Given the description of an element on the screen output the (x, y) to click on. 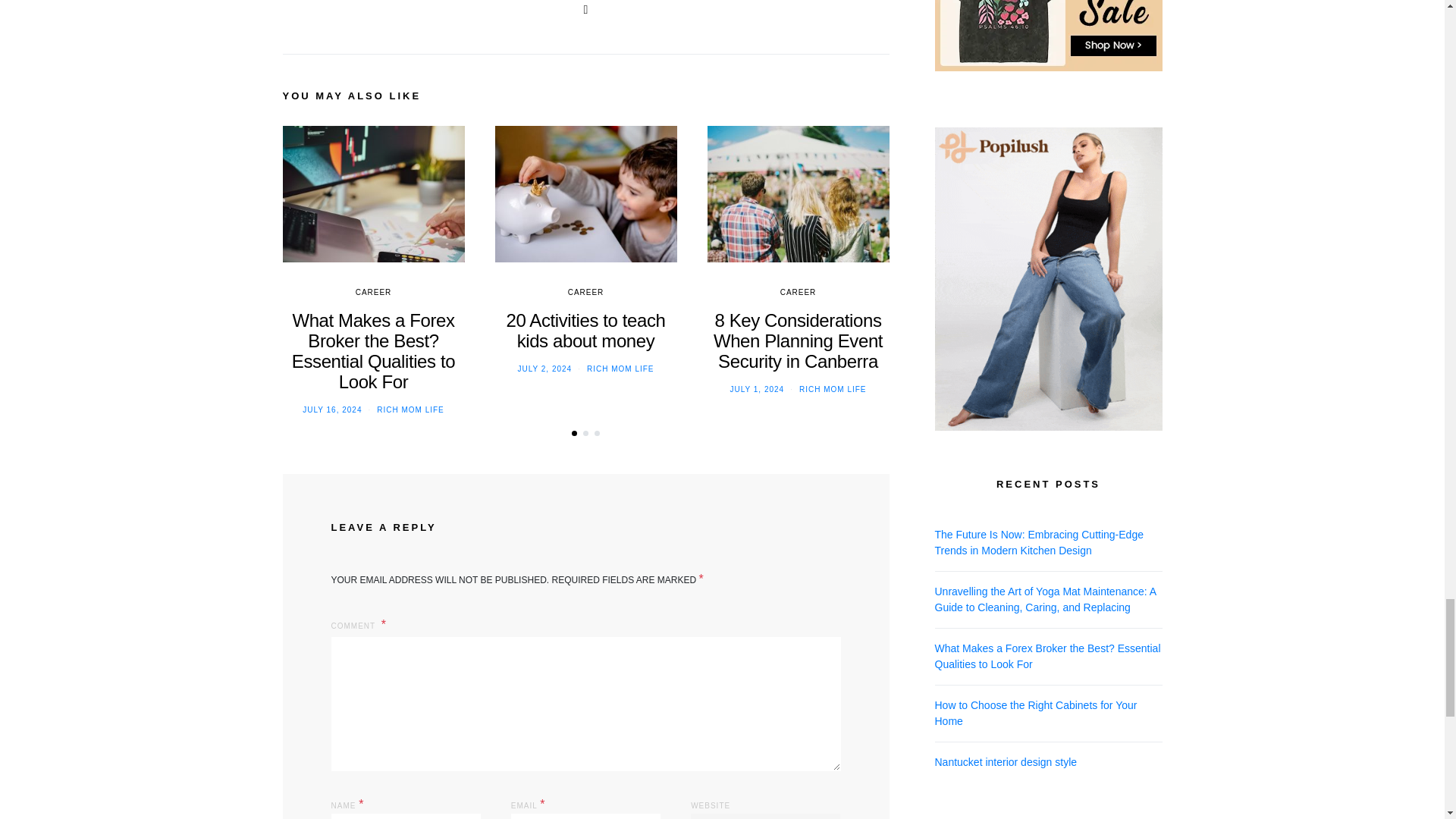
View all posts by Rich Mom Life (410, 409)
View all posts by Rich Mom Life (832, 388)
View all posts by Rich Mom Life (619, 368)
